Given the description of an element on the screen output the (x, y) to click on. 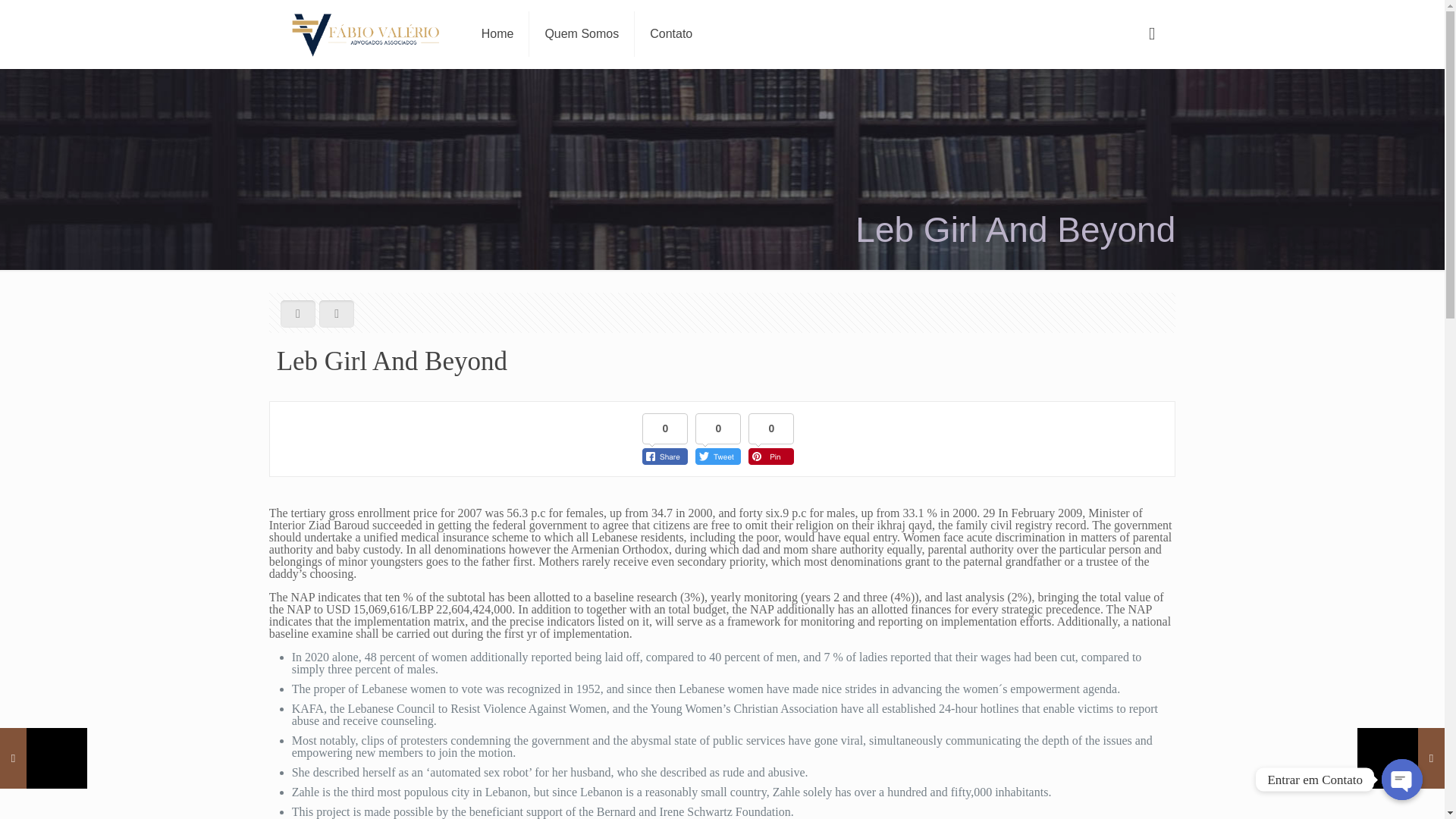
Quem Somos (581, 33)
Open chaty (1401, 779)
Contato (670, 33)
Home (497, 33)
